Given the description of an element on the screen output the (x, y) to click on. 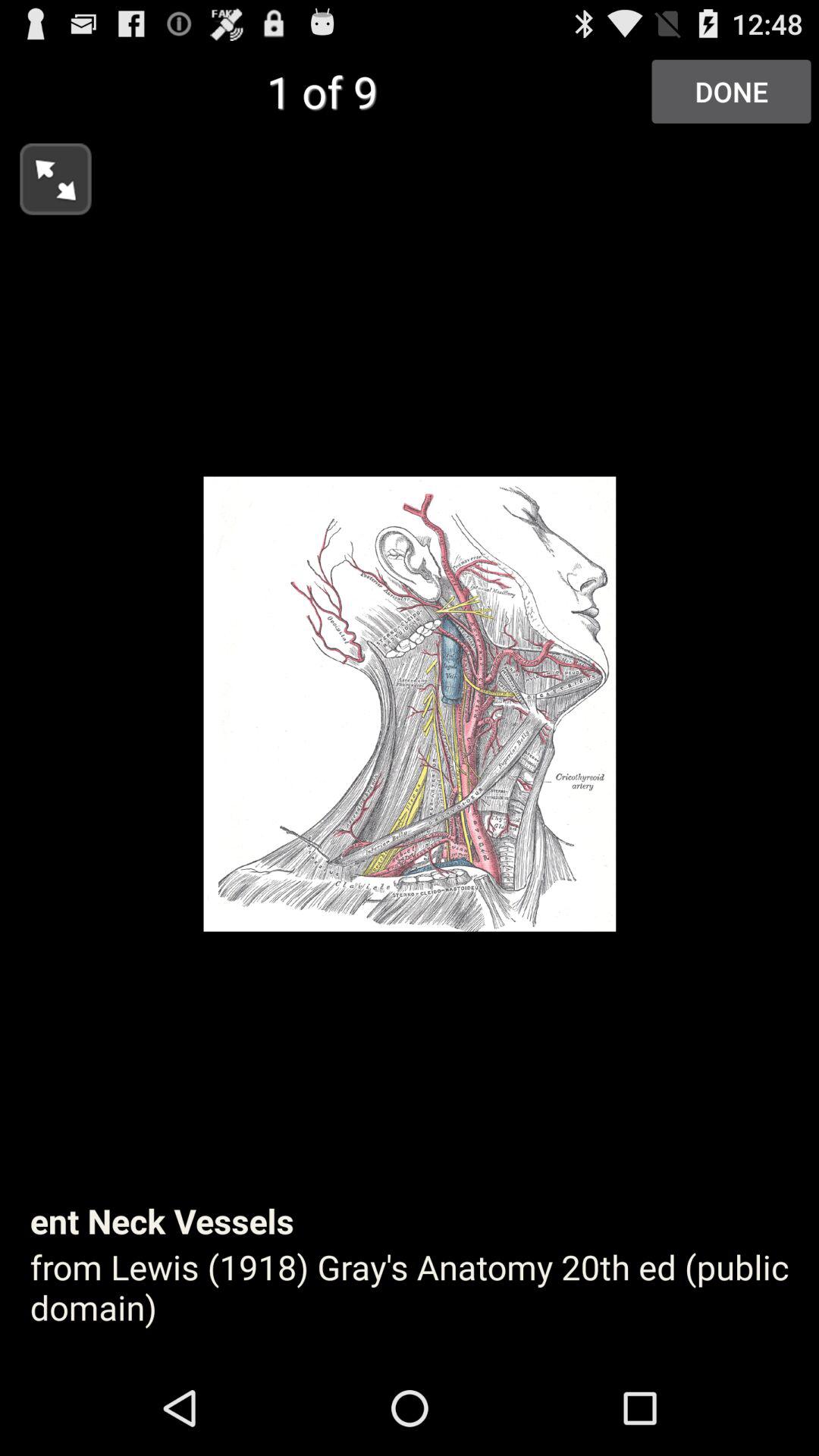
tap item above ent neck vessels (45, 174)
